Given the description of an element on the screen output the (x, y) to click on. 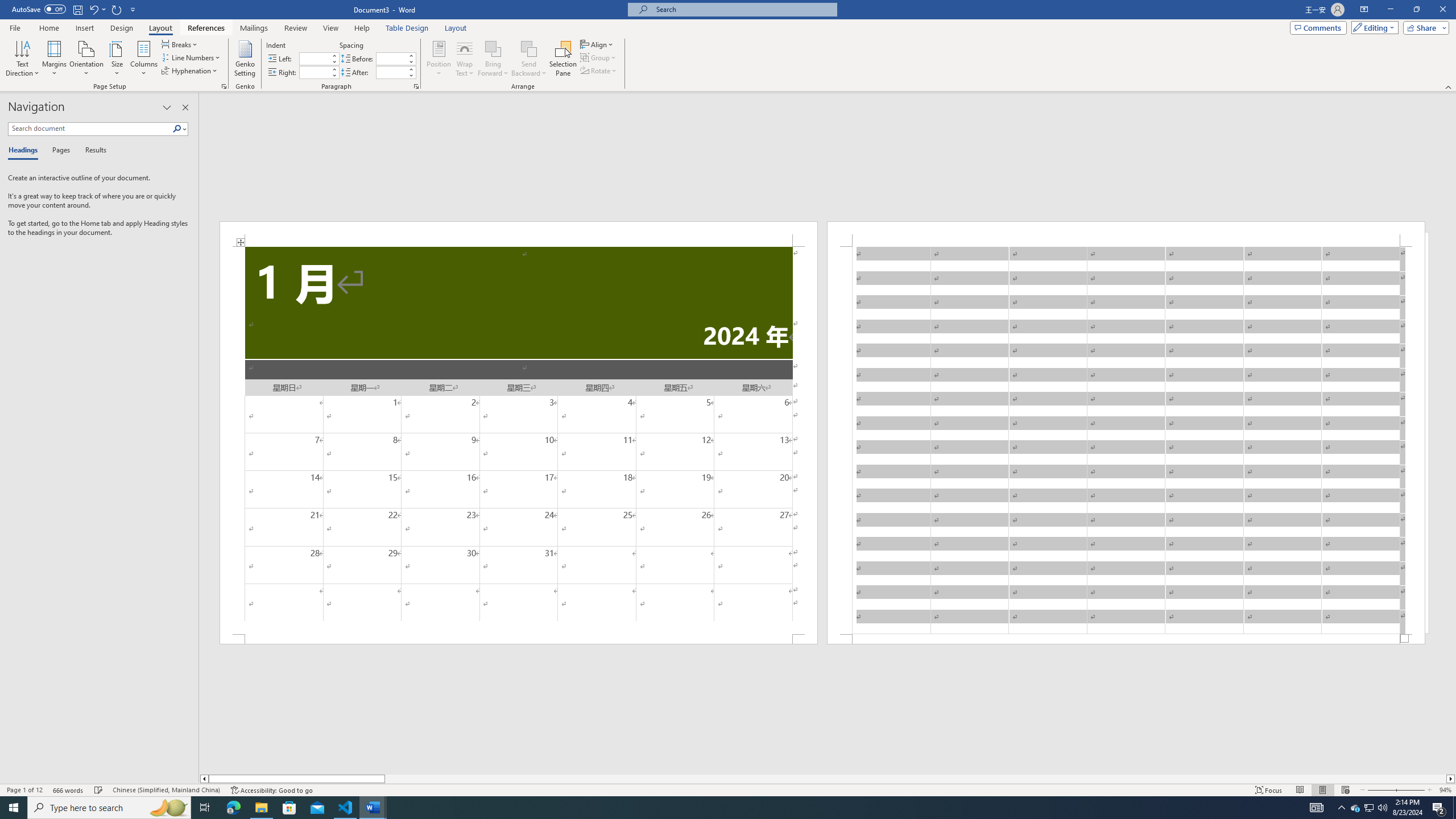
Close pane (185, 107)
Columns (143, 58)
Header -Section 1- (1126, 233)
Margins (54, 58)
Group (599, 56)
Undo Insert Row Below (92, 9)
Hyphenation (189, 69)
More (411, 69)
Orientation (86, 58)
Save (77, 9)
Text Direction (22, 58)
Genko Setting... (244, 58)
Ribbon Display Options (1364, 9)
Comments (1318, 27)
